Given the description of an element on the screen output the (x, y) to click on. 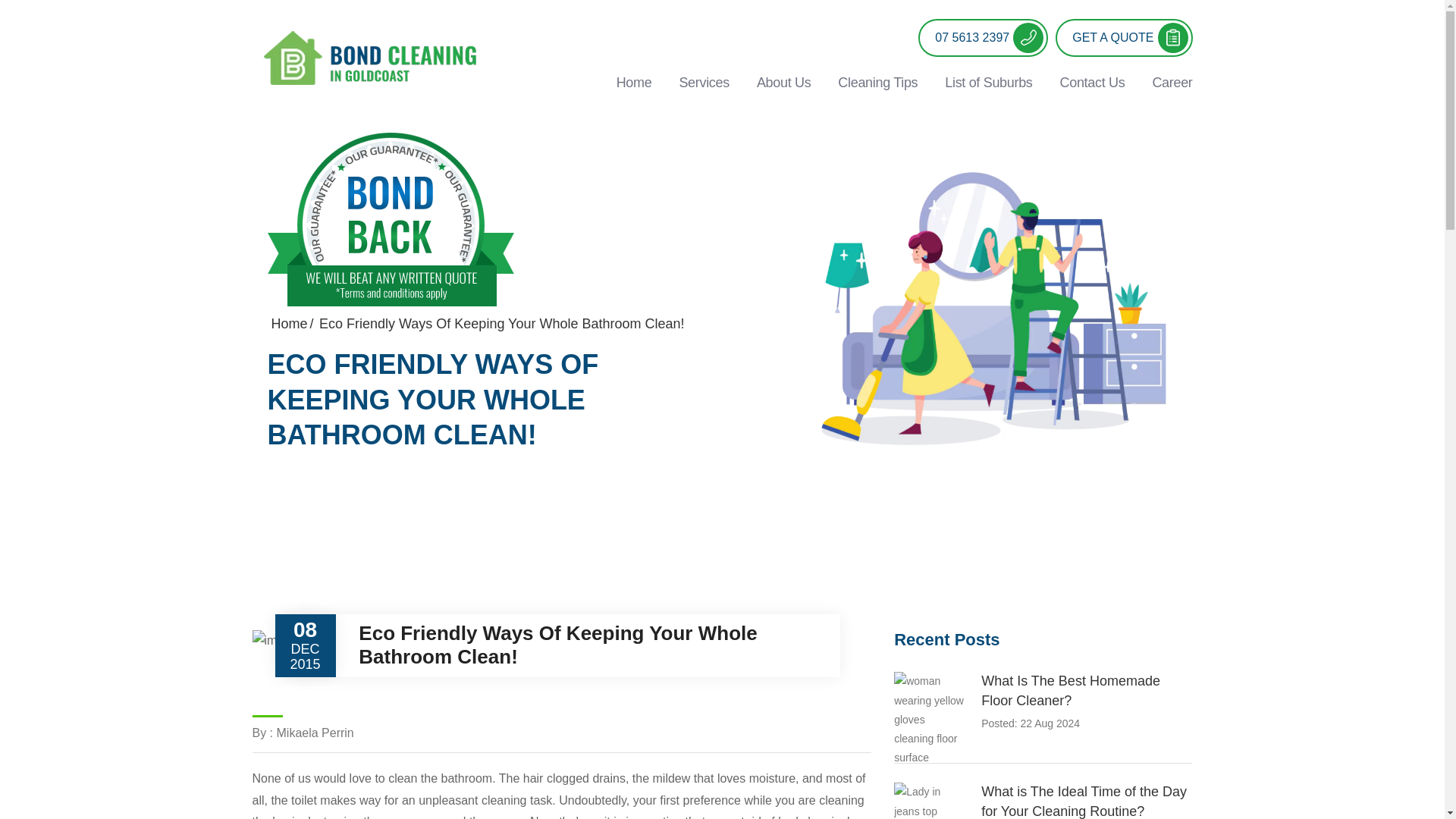
About Us (783, 82)
Services (703, 82)
List of Suburbs (988, 82)
Cleaning Tips (877, 82)
Career (1165, 82)
GET A QUOTE (1123, 37)
Home Eco Friendly Ways Of Keeping Your Whole Bathroom Clean! (528, 324)
Home (633, 82)
Go to home (288, 323)
07 5613 2397 (983, 37)
